Given the description of an element on the screen output the (x, y) to click on. 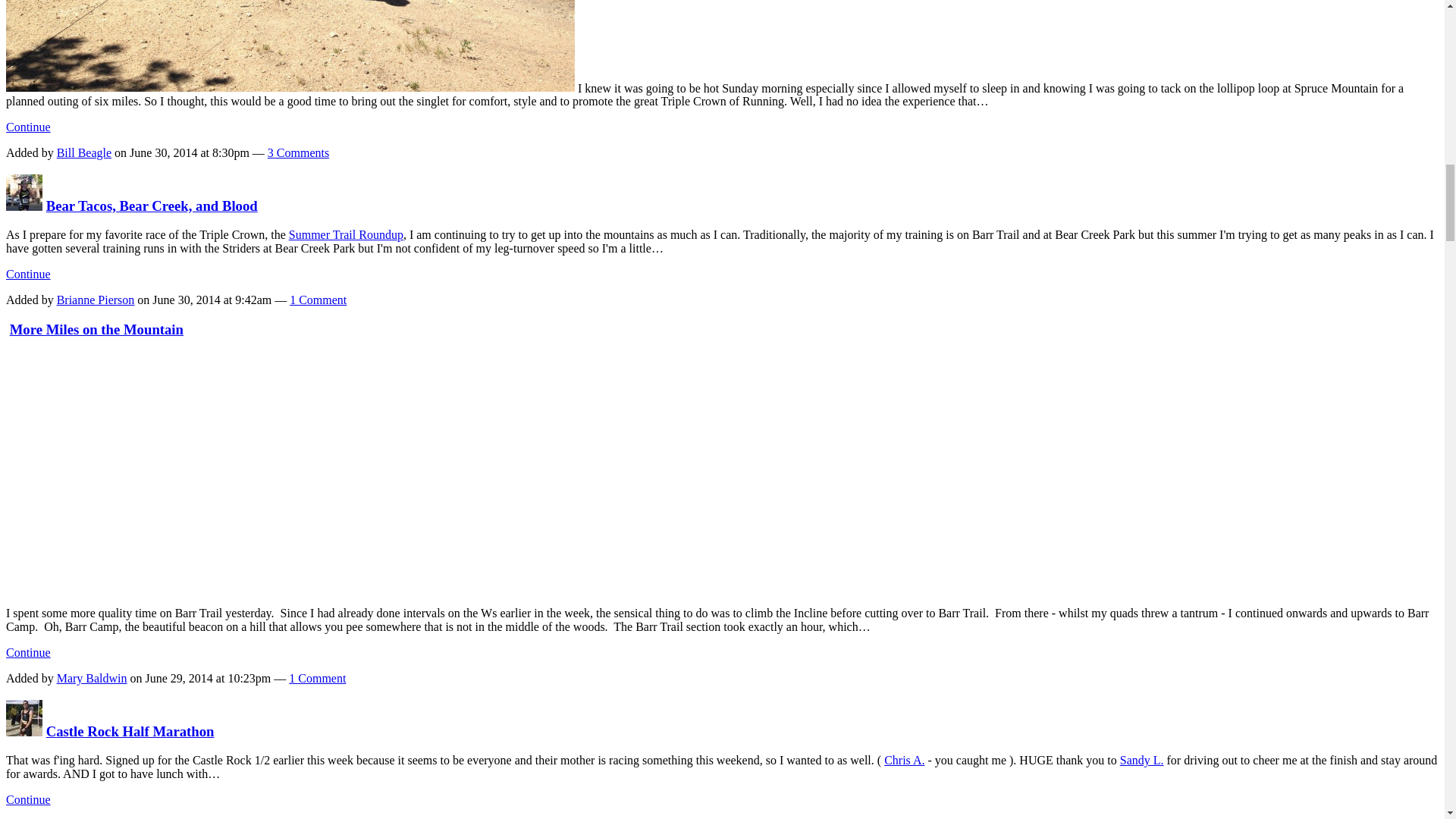
3 Comments (298, 152)
Summer Trail Roundup (345, 234)
Bill Beagle (84, 152)
Bear Tacos, Bear Creek, and Blood (151, 205)
Continue (27, 126)
Continue (27, 273)
Norman Mininger (23, 731)
Brianne Pierson (23, 205)
